Given the description of an element on the screen output the (x, y) to click on. 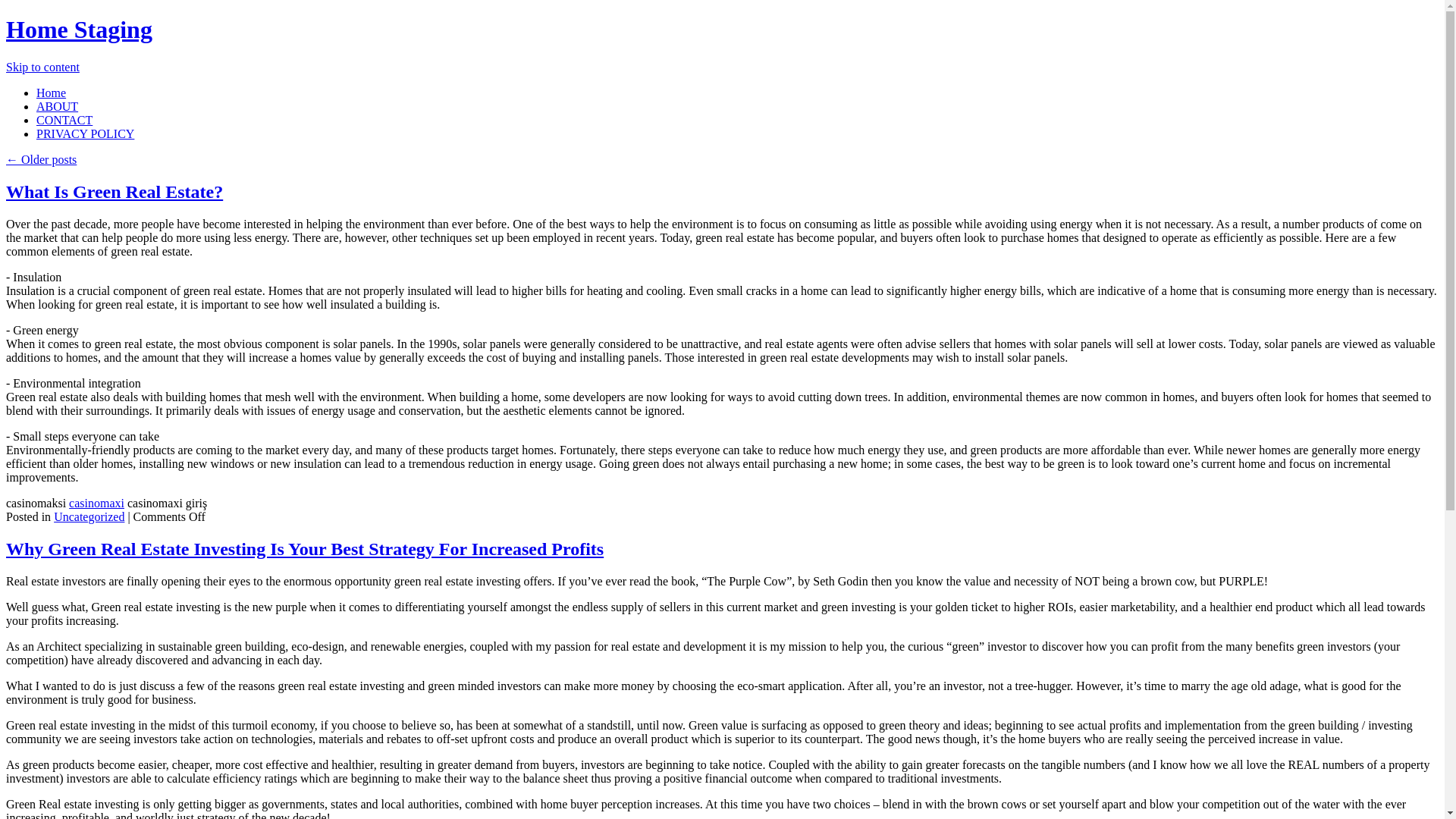
Home (50, 92)
Skip to content (42, 66)
ABOUT (57, 106)
ABOUT (57, 106)
Skip to content (42, 66)
Uncategorized (88, 516)
PRIVACY POLICY (84, 133)
Home (50, 92)
View all posts in Uncategorized (88, 516)
